Given the description of an element on the screen output the (x, y) to click on. 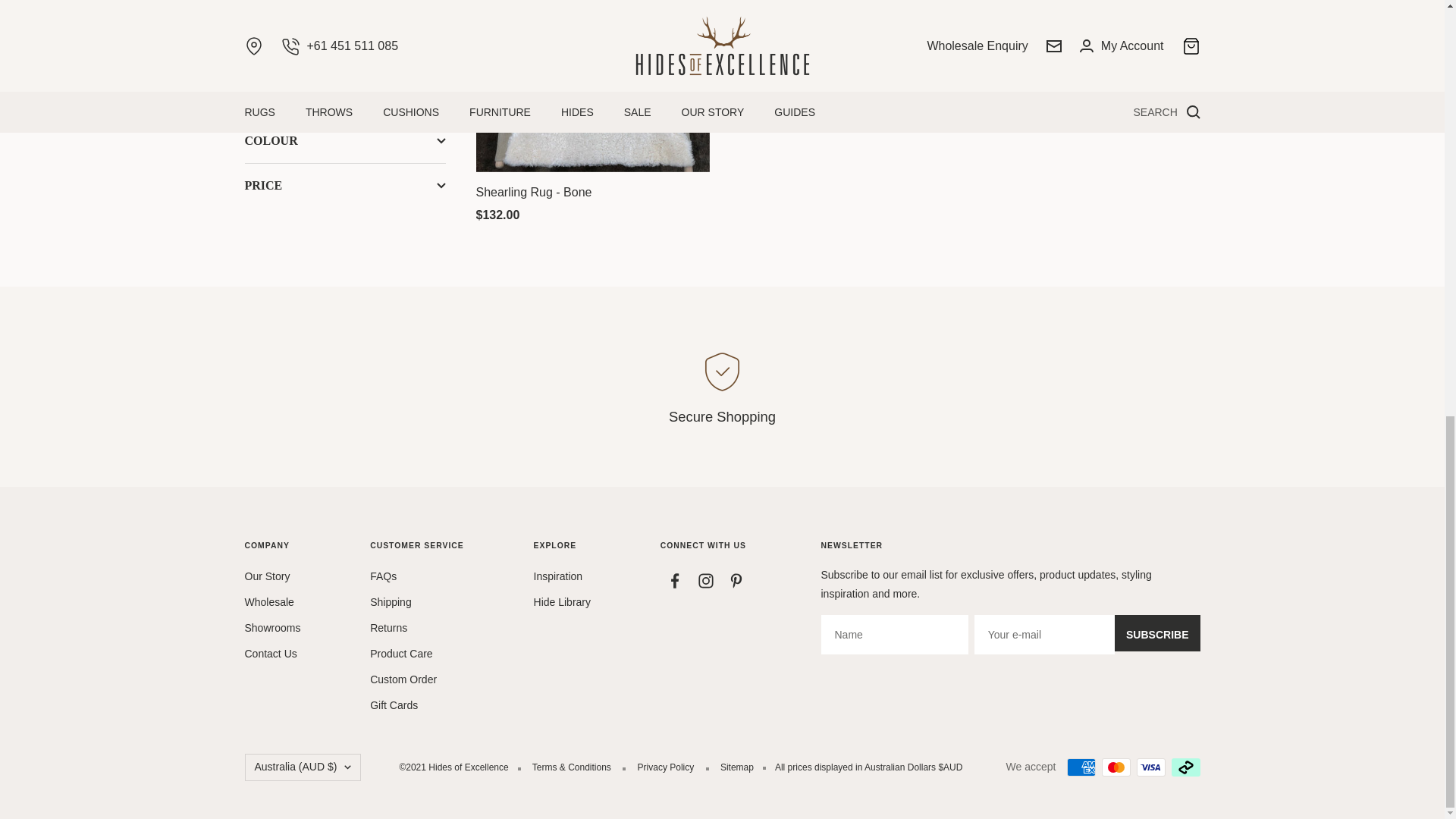
Secure Shopping (721, 386)
Subscribe (1157, 633)
